Given the description of an element on the screen output the (x, y) to click on. 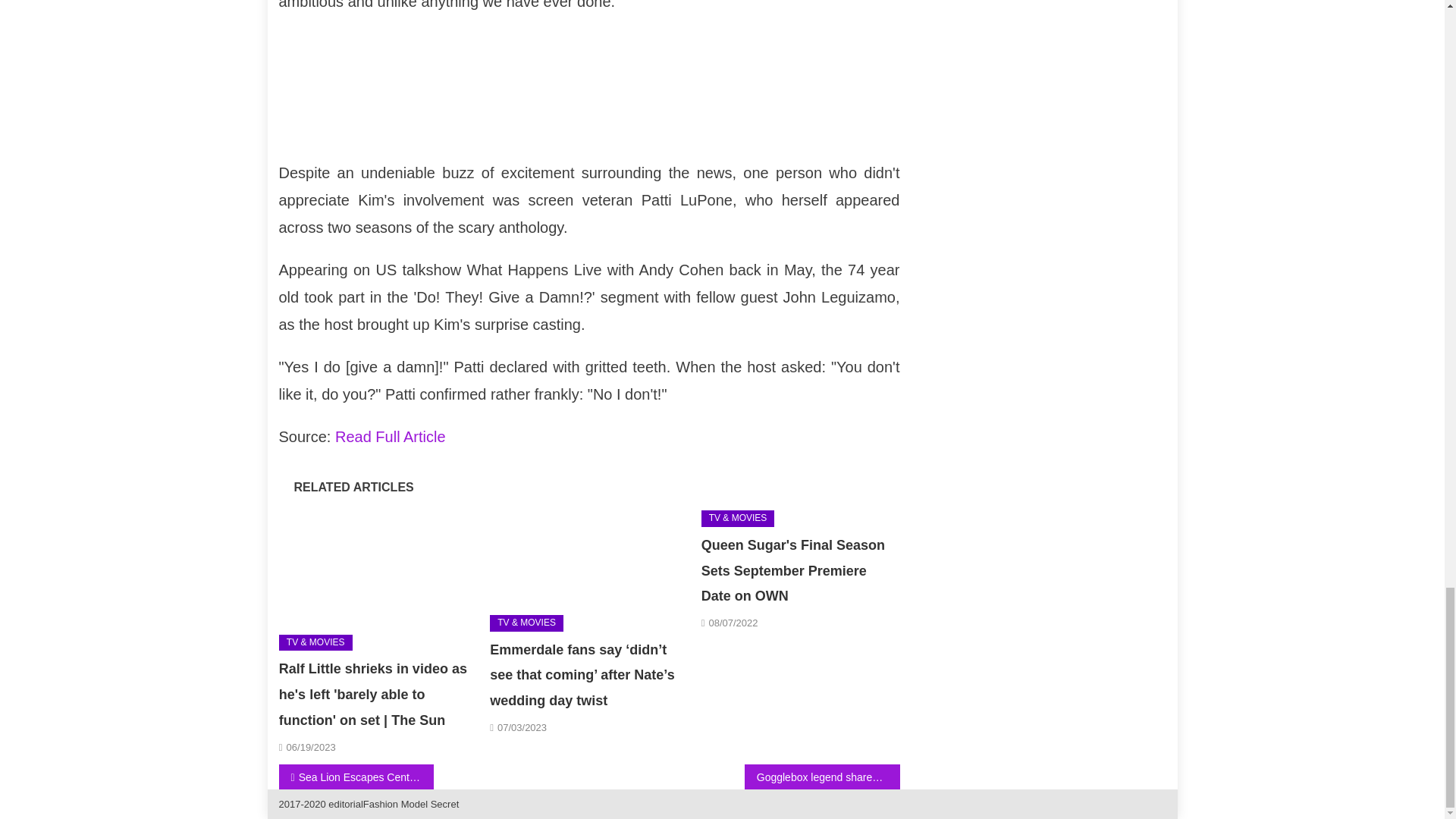
Read Full Article (389, 436)
